Given the description of an element on the screen output the (x, y) to click on. 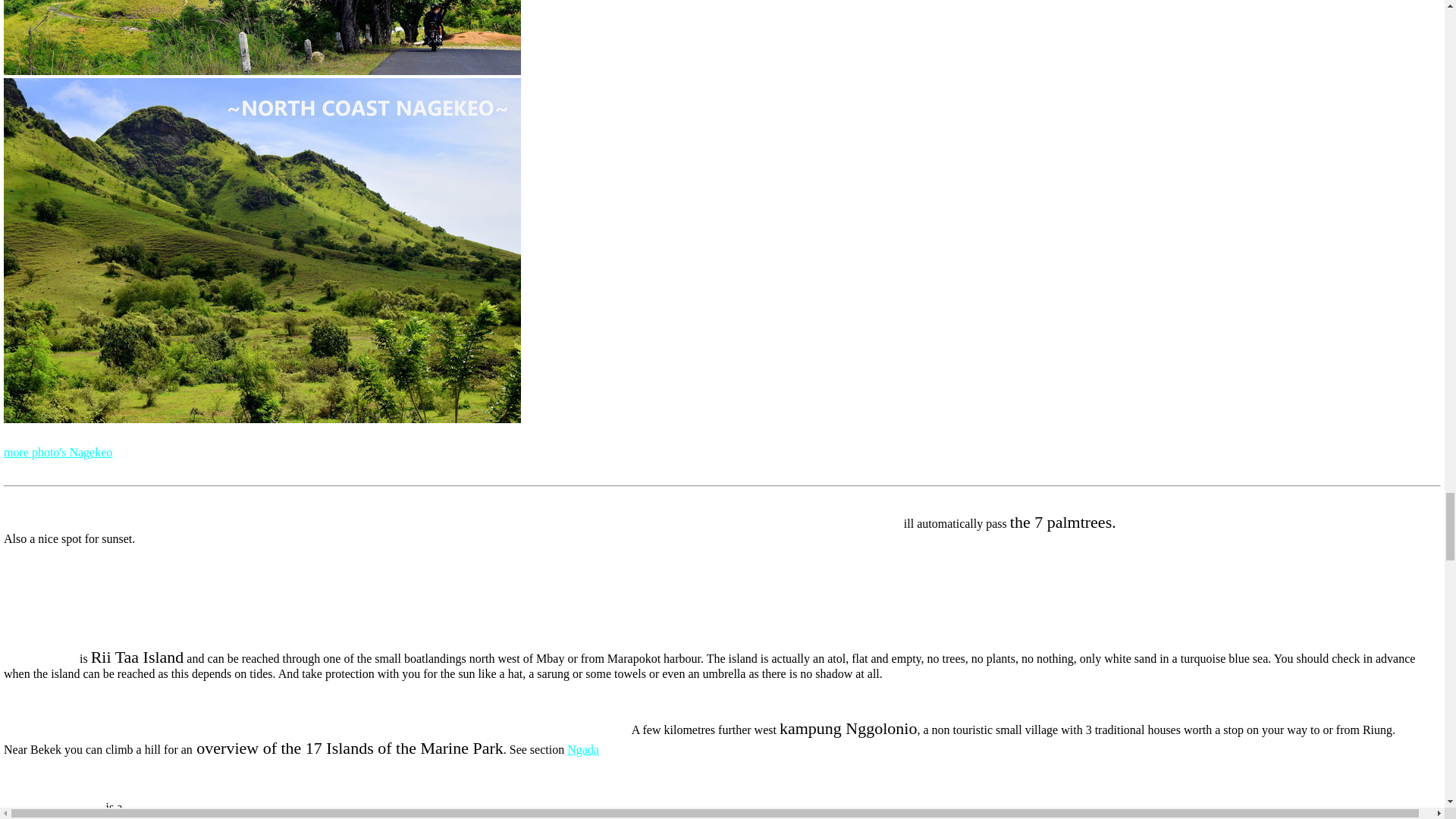
NAGEKEO (58, 451)
NGADA (582, 748)
